Given the description of an element on the screen output the (x, y) to click on. 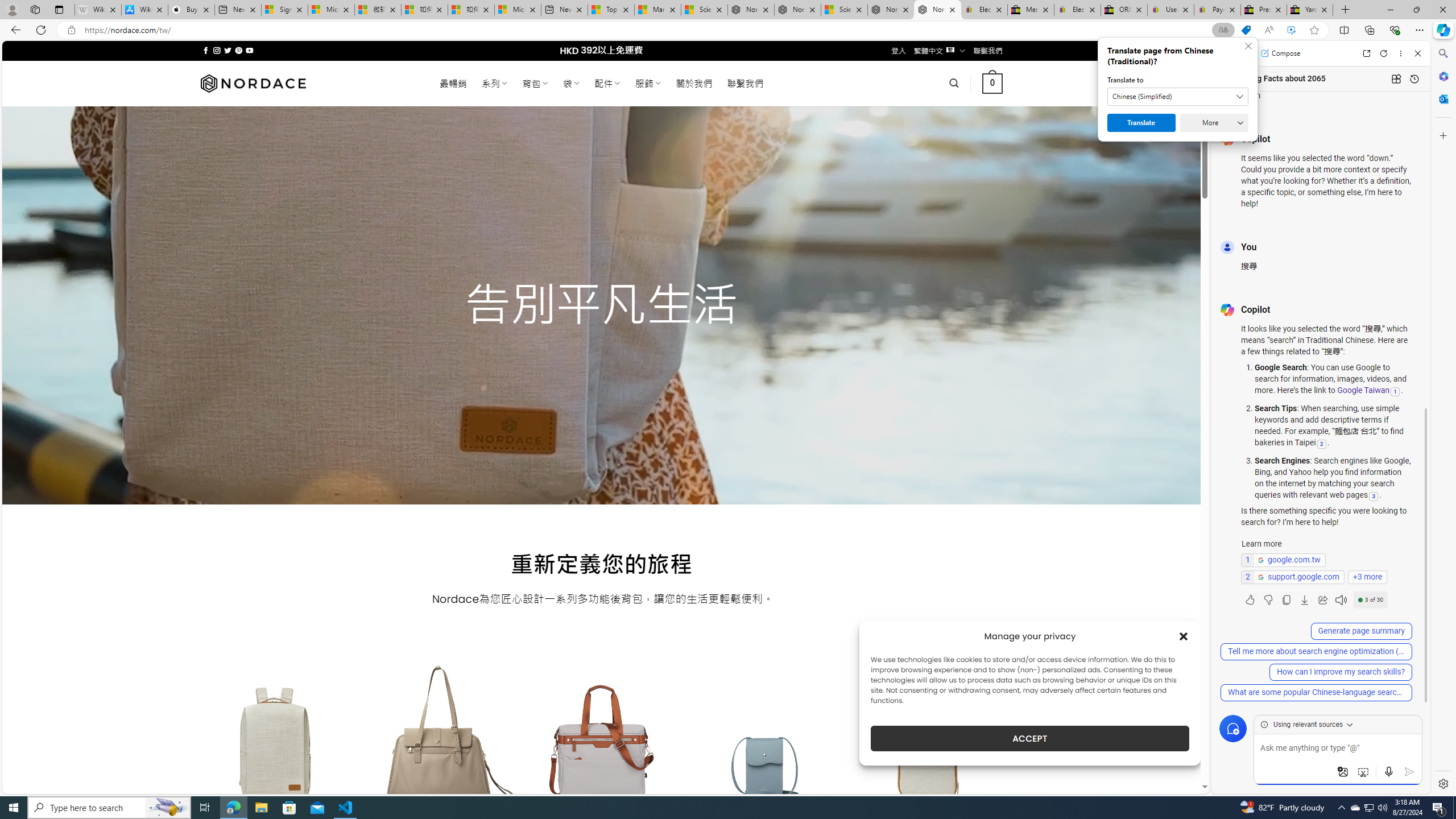
Payments Terms of Use | eBay.com (1216, 9)
Translate to (1177, 96)
Follow on Instagram (216, 50)
Translate (1141, 122)
Class: cmplz-close (1183, 636)
Nordace - Summer Adventures 2024 (890, 9)
